Given the description of an element on the screen output the (x, y) to click on. 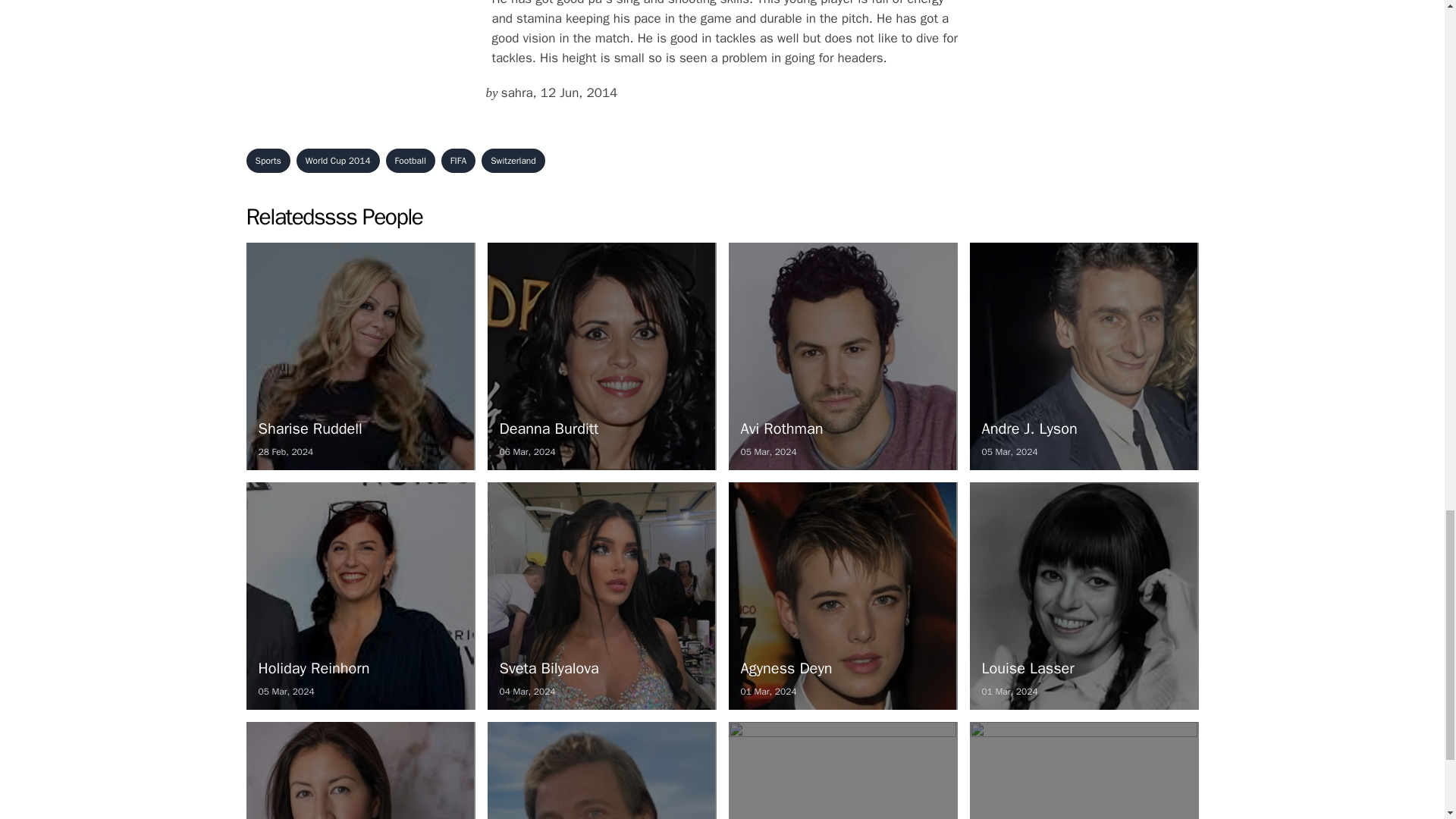
Switzerland (512, 160)
FIFA (842, 356)
Football (1083, 596)
World Cup 2014 (360, 596)
Sports (458, 160)
